Given the description of an element on the screen output the (x, y) to click on. 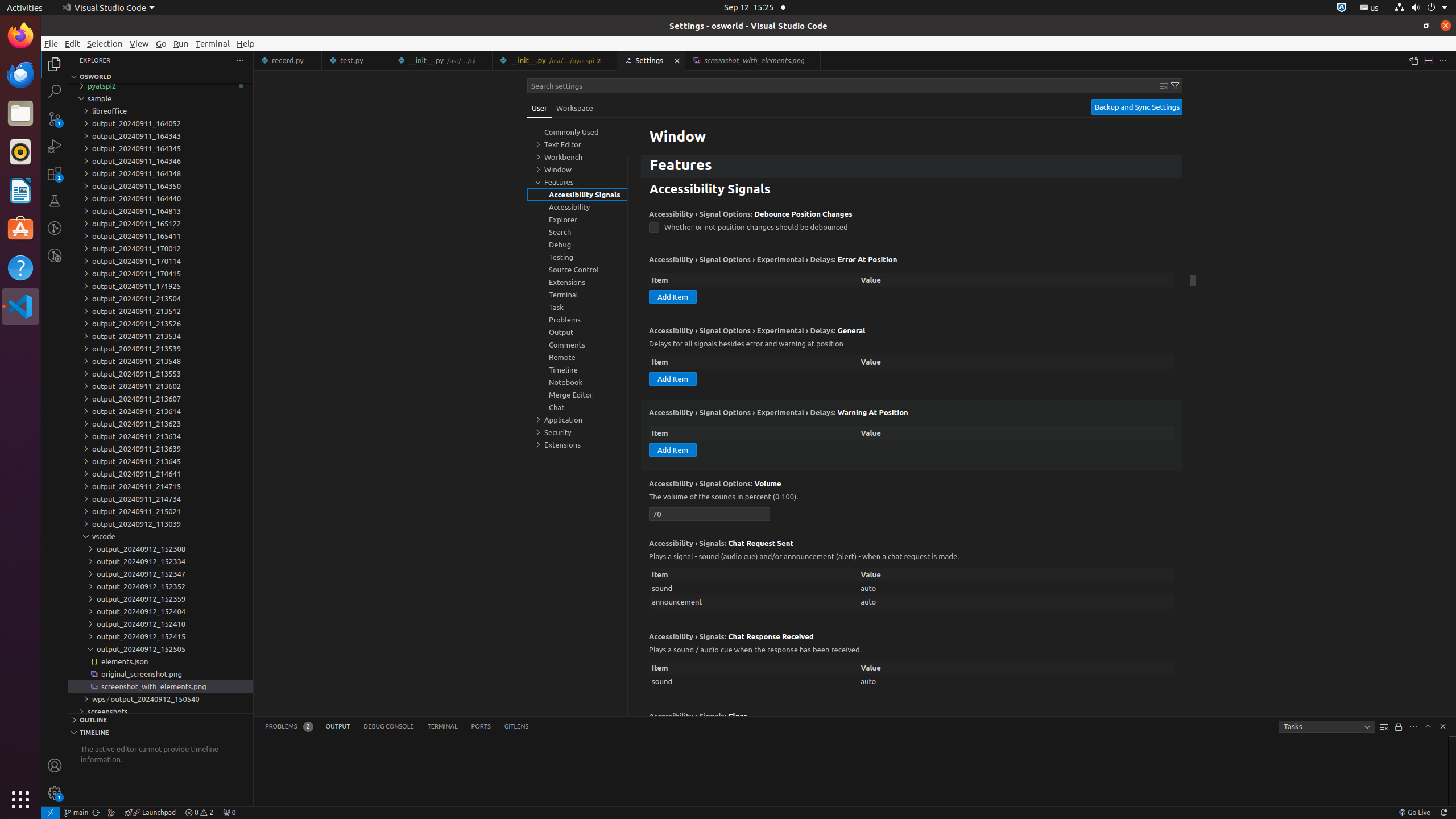
Output, group Element type: tree-item (577, 331)
output_20240912_152410 Element type: tree-item (160, 623)
wps Element type: tree-item (101, 698)
Close (Ctrl+W) Element type: push-button (812, 60)
